Given the description of an element on the screen output the (x, y) to click on. 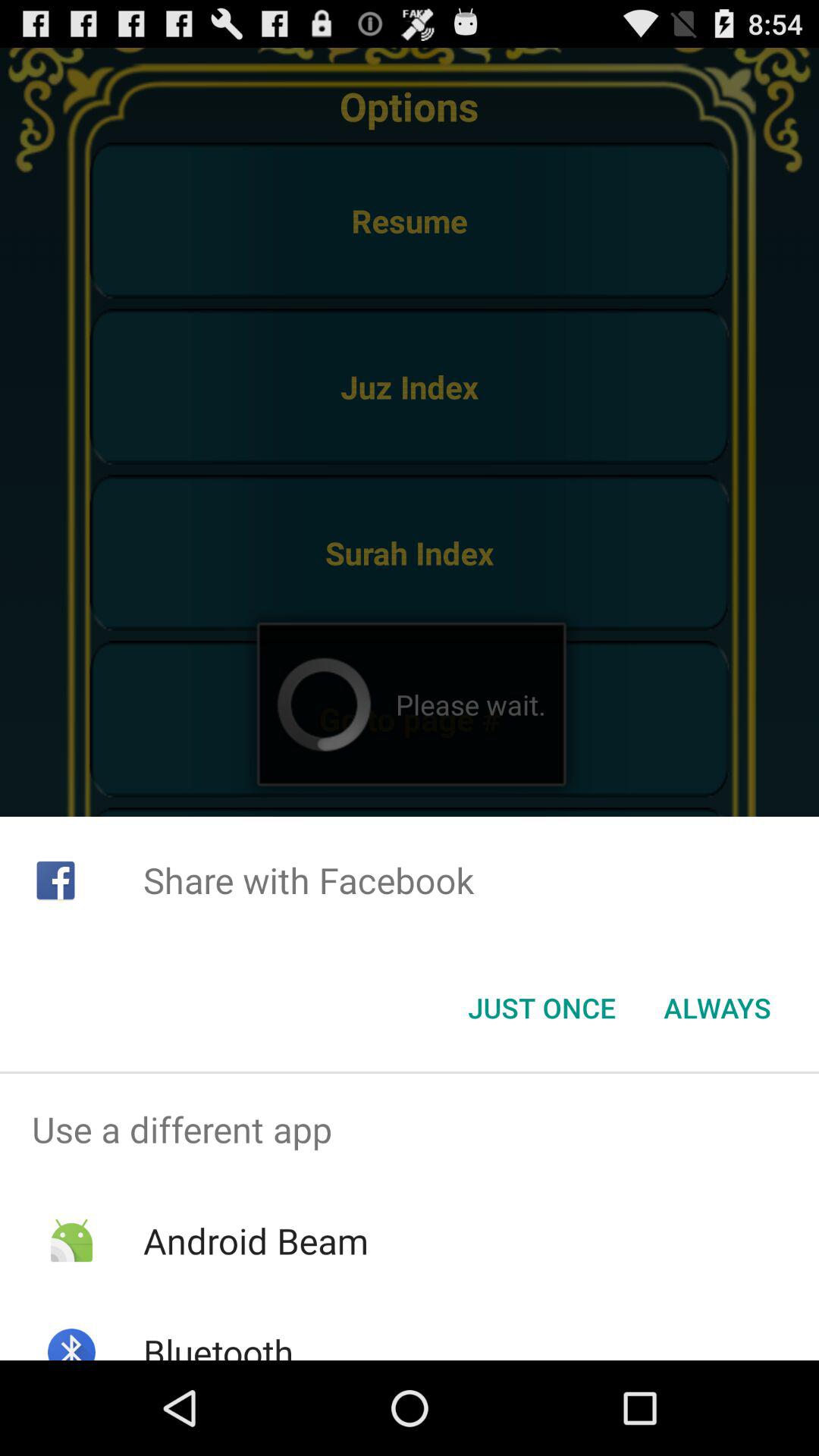
click bluetooth (218, 1344)
